Given the description of an element on the screen output the (x, y) to click on. 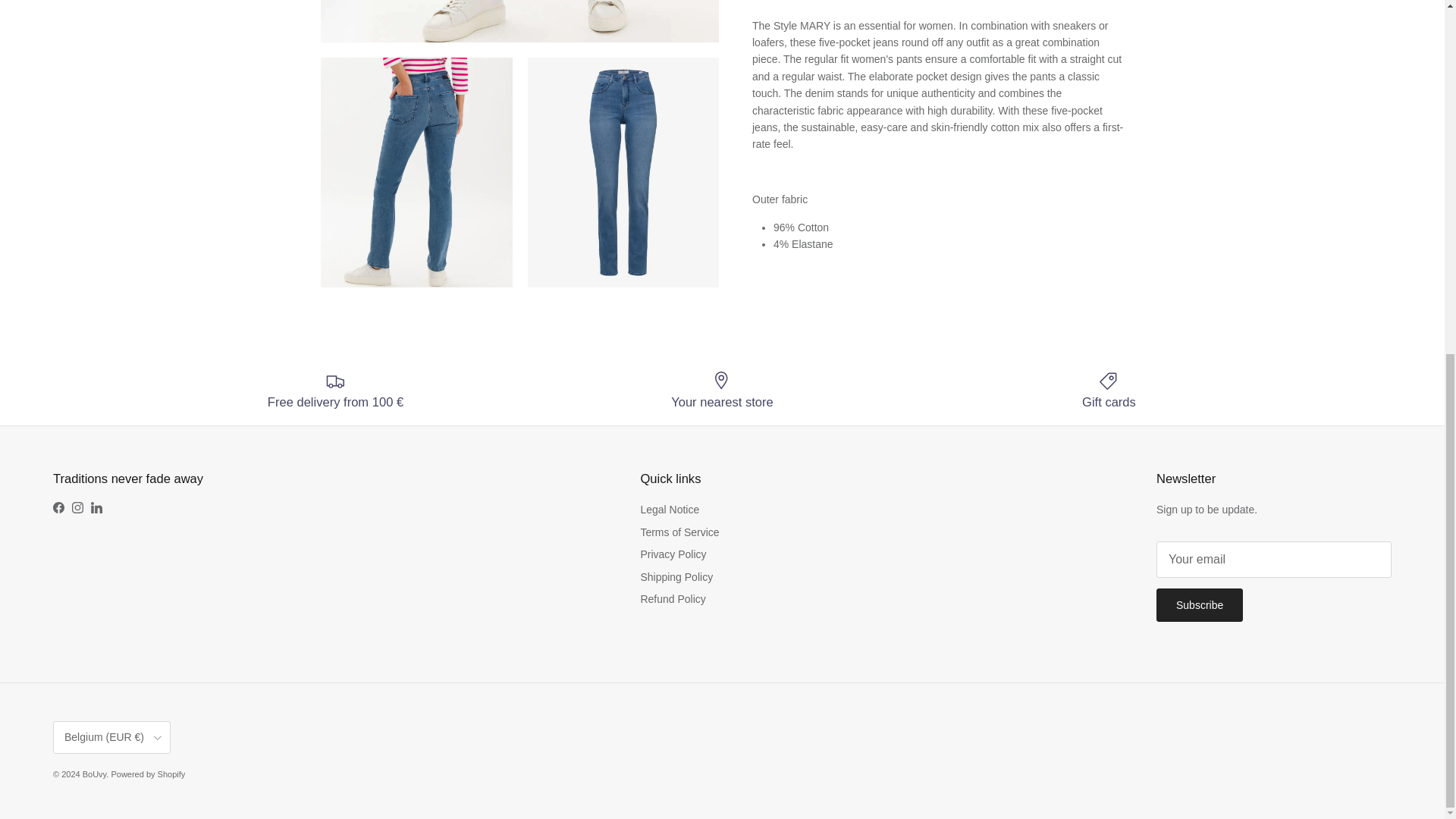
BoUvy on Facebook (58, 507)
BoUvy on Instagram (76, 507)
BoUvy on LinkedIn (95, 507)
